Given the description of an element on the screen output the (x, y) to click on. 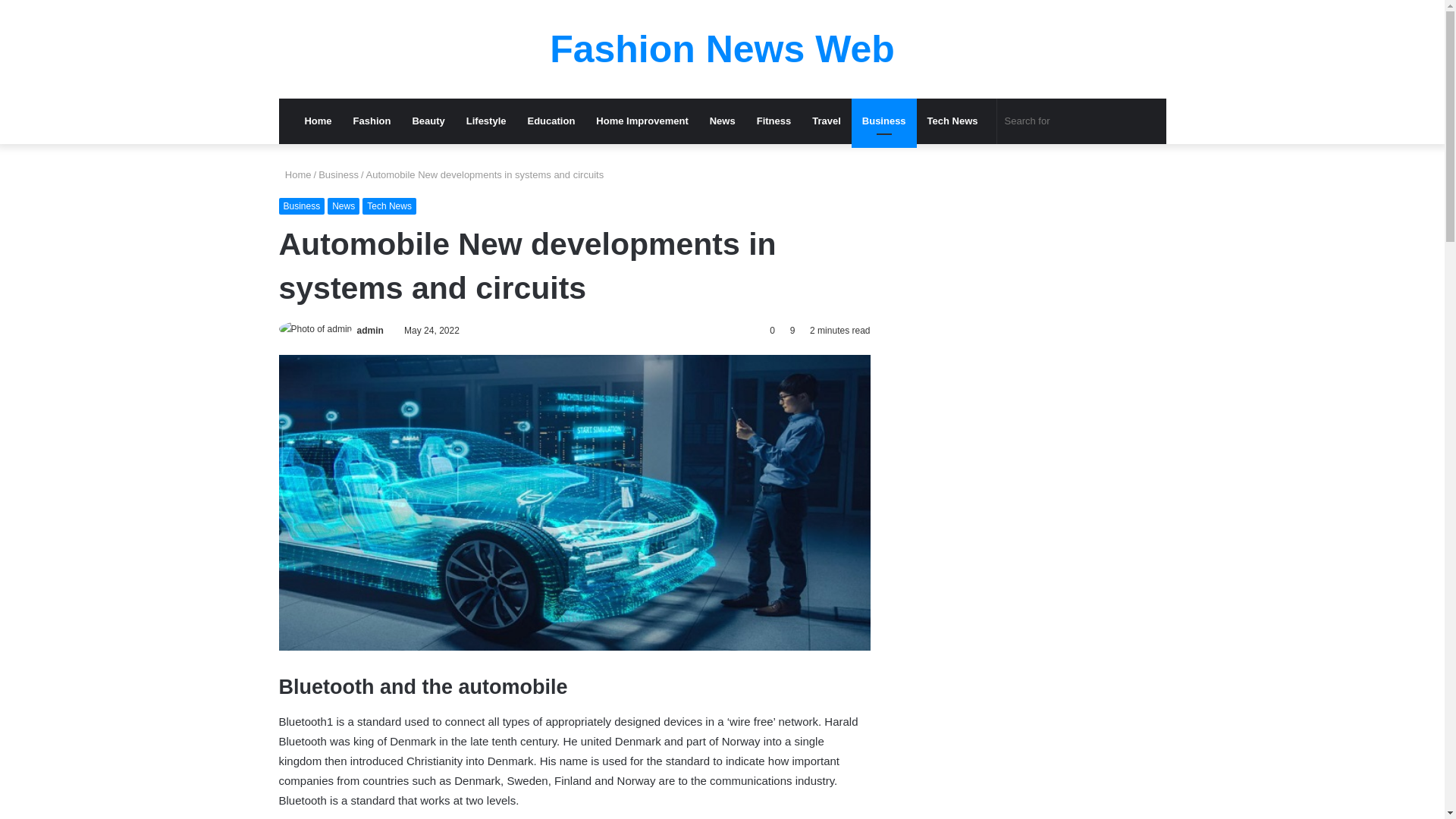
Fitness (773, 121)
News (343, 206)
Fashion (371, 121)
Home (318, 121)
Beauty (427, 121)
Business (884, 121)
Tech News (389, 206)
Search for (1074, 121)
Travel (826, 121)
Home (295, 174)
